Given the description of an element on the screen output the (x, y) to click on. 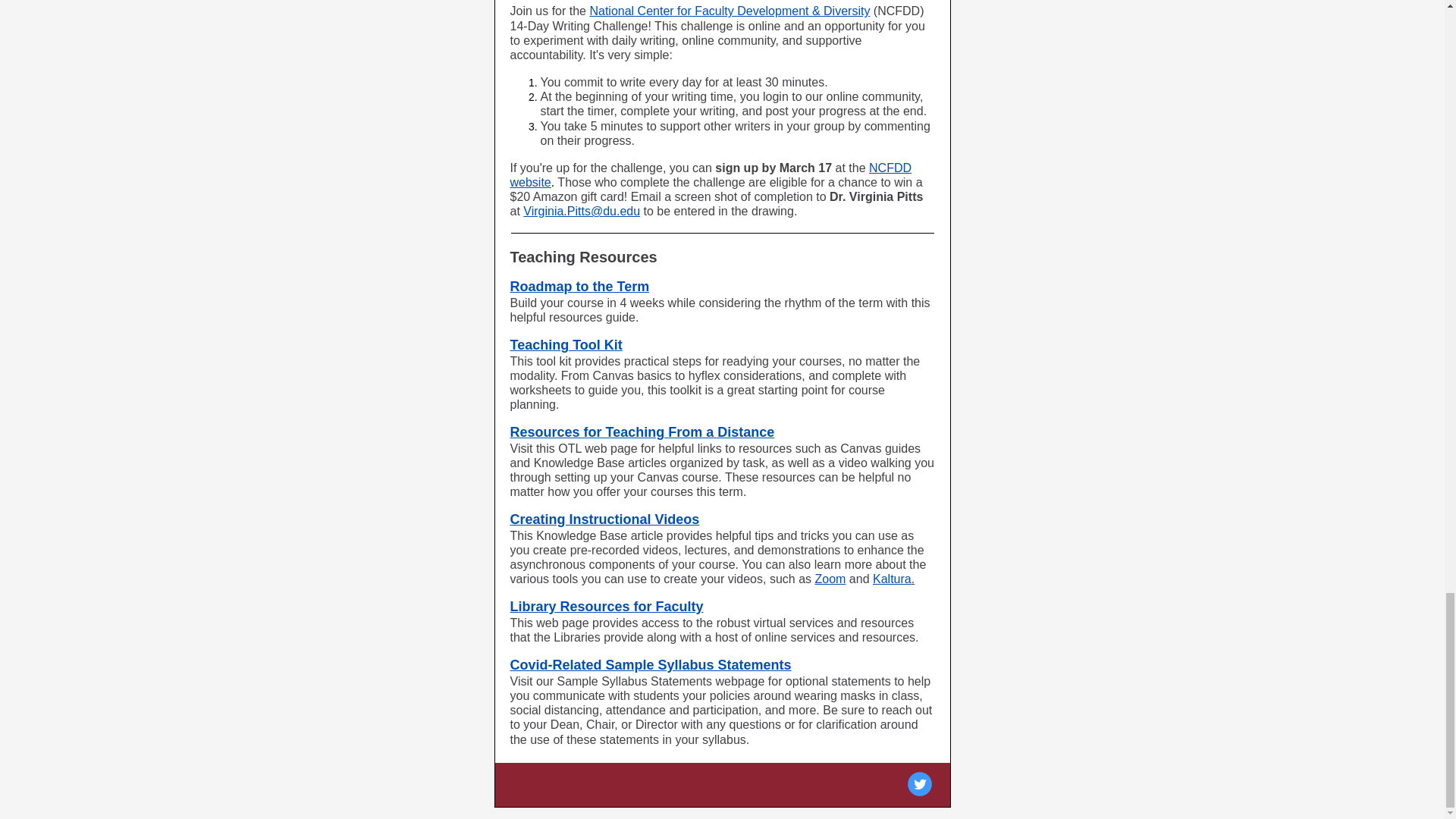
Creating Instructional Videos (603, 519)
Covid-Related Sample Syllabus Statements (649, 664)
Library Resources for Faculty (606, 606)
Roadmap to the Term (579, 286)
NCFDD website (710, 175)
Kaltura (891, 578)
Resources for Teaching From a Distance (641, 432)
Zoom (829, 578)
Teaching Tool Kit (565, 344)
